Given the description of an element on the screen output the (x, y) to click on. 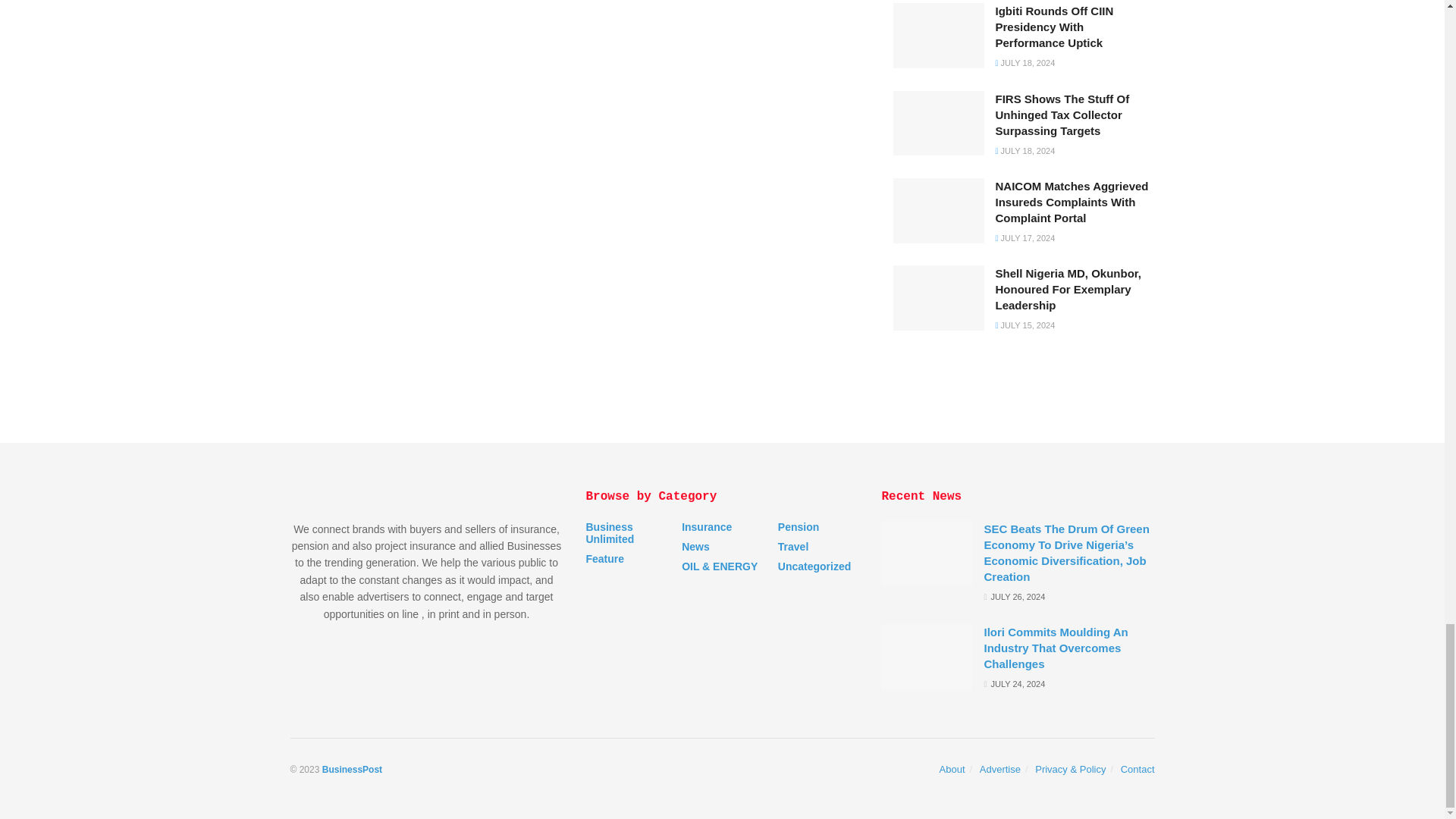
Business Post (351, 769)
